Given the description of an element on the screen output the (x, y) to click on. 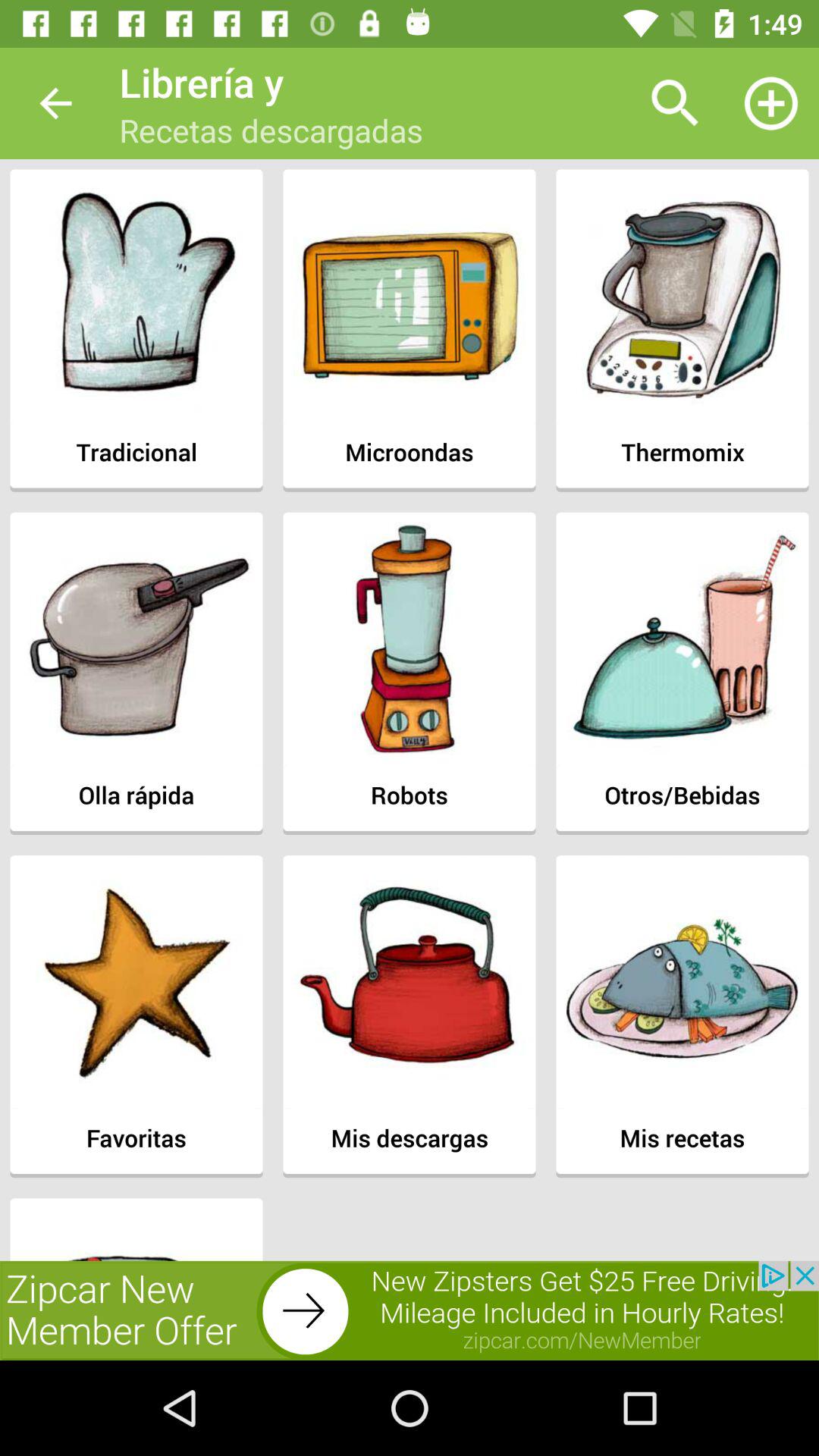
go to advertisement (409, 1310)
